Given the description of an element on the screen output the (x, y) to click on. 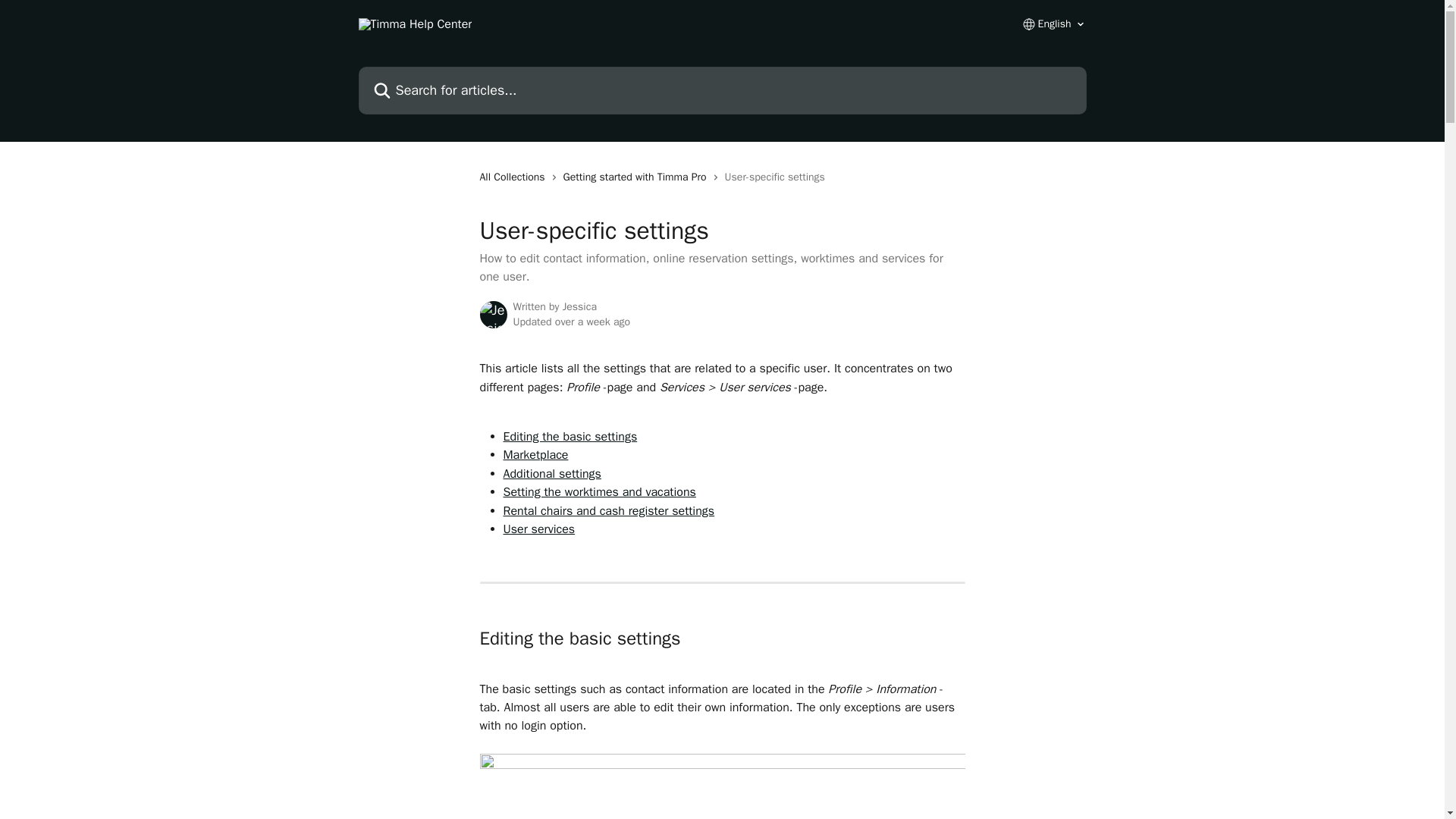
Getting started with Timma Pro (638, 176)
Editing the basic settings (570, 436)
All Collections (514, 176)
User services (539, 529)
Additional settings (552, 473)
Marketplace (536, 454)
Setting the worktimes and vacations (599, 491)
Rental chairs and cash register settings (608, 510)
